Given the description of an element on the screen output the (x, y) to click on. 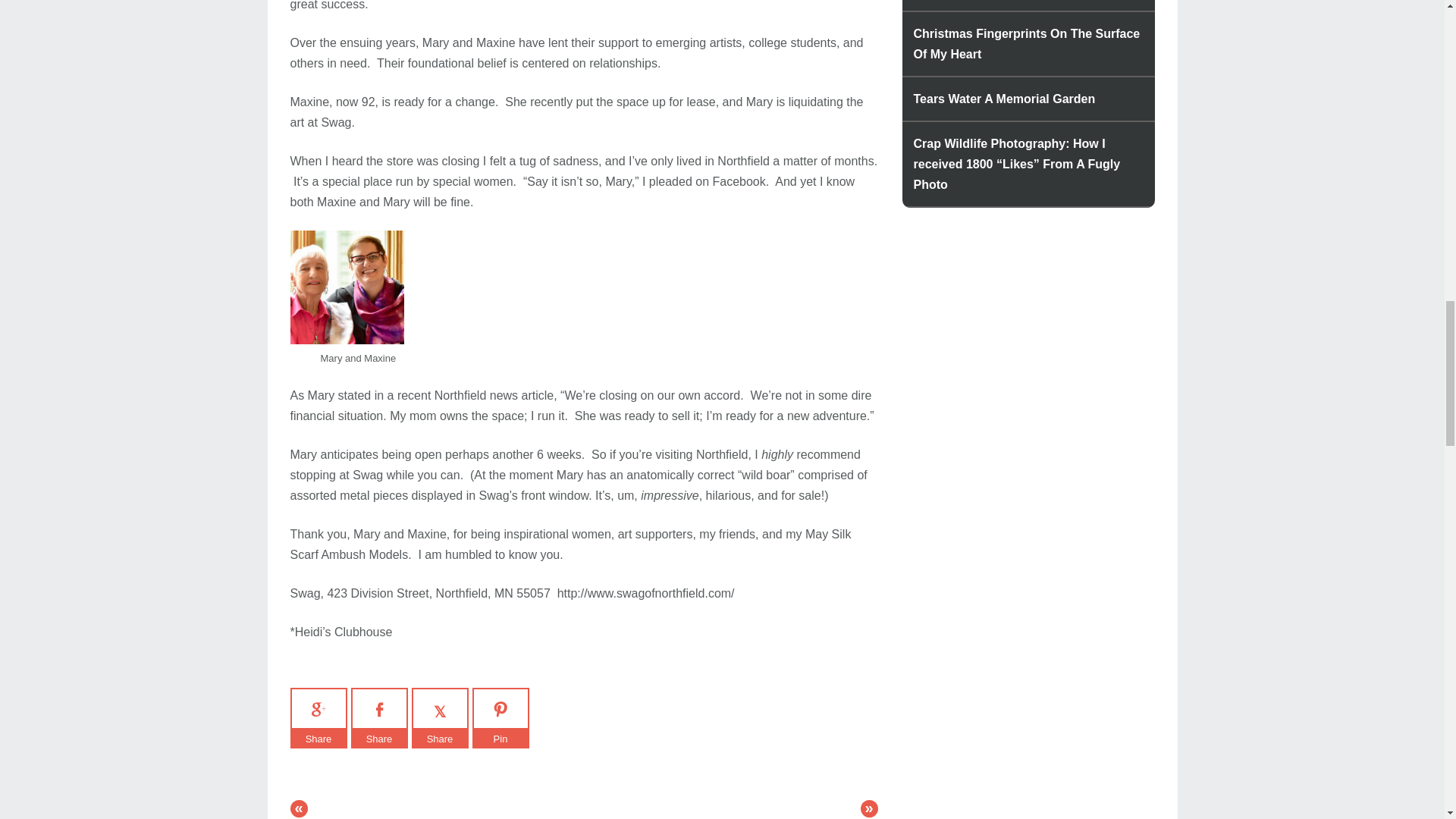
Previous Post: Trout Lilies And Other Spring Delights (298, 808)
Pin (499, 738)
Share (438, 738)
Share (378, 738)
Share (317, 738)
